Given the description of an element on the screen output the (x, y) to click on. 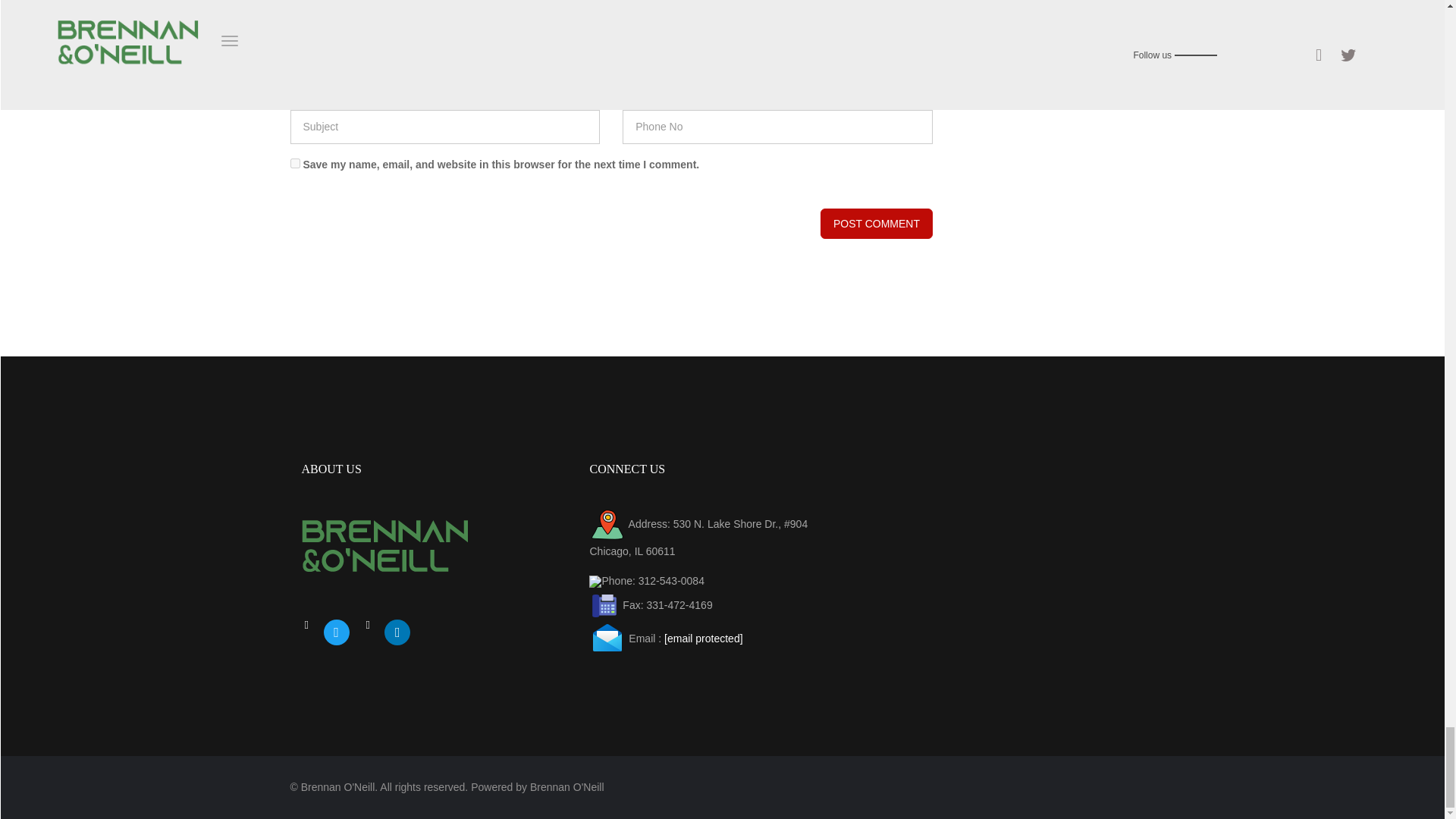
Post Comment (877, 223)
twitter (336, 631)
yes (294, 163)
Post Comment (877, 223)
linkedin (397, 631)
